Given the description of an element on the screen output the (x, y) to click on. 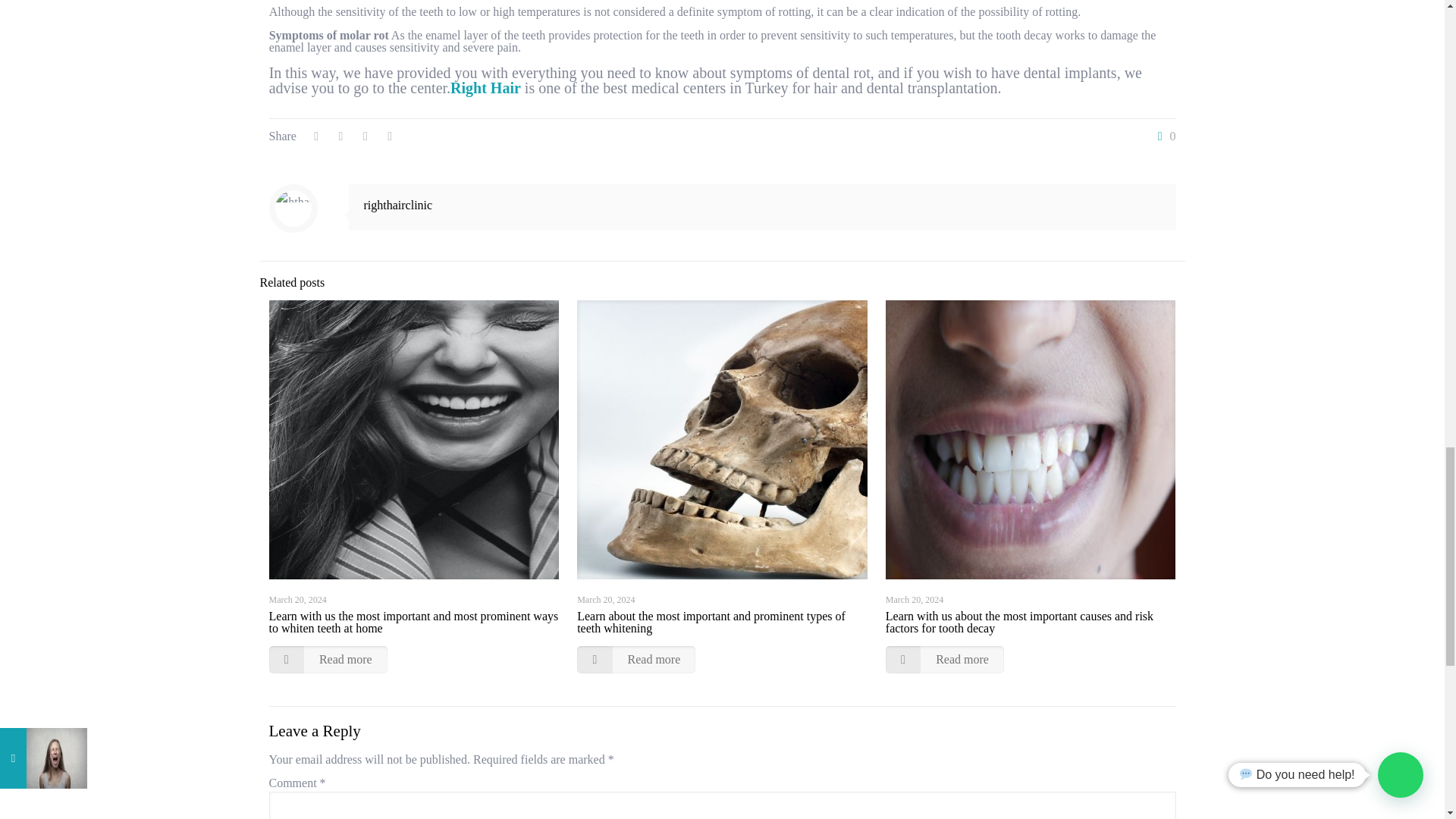
Read more (327, 659)
Right Hair (485, 87)
Read more (635, 659)
righthairclinic (398, 205)
Read more (944, 659)
0 (1162, 136)
